Given the description of an element on the screen output the (x, y) to click on. 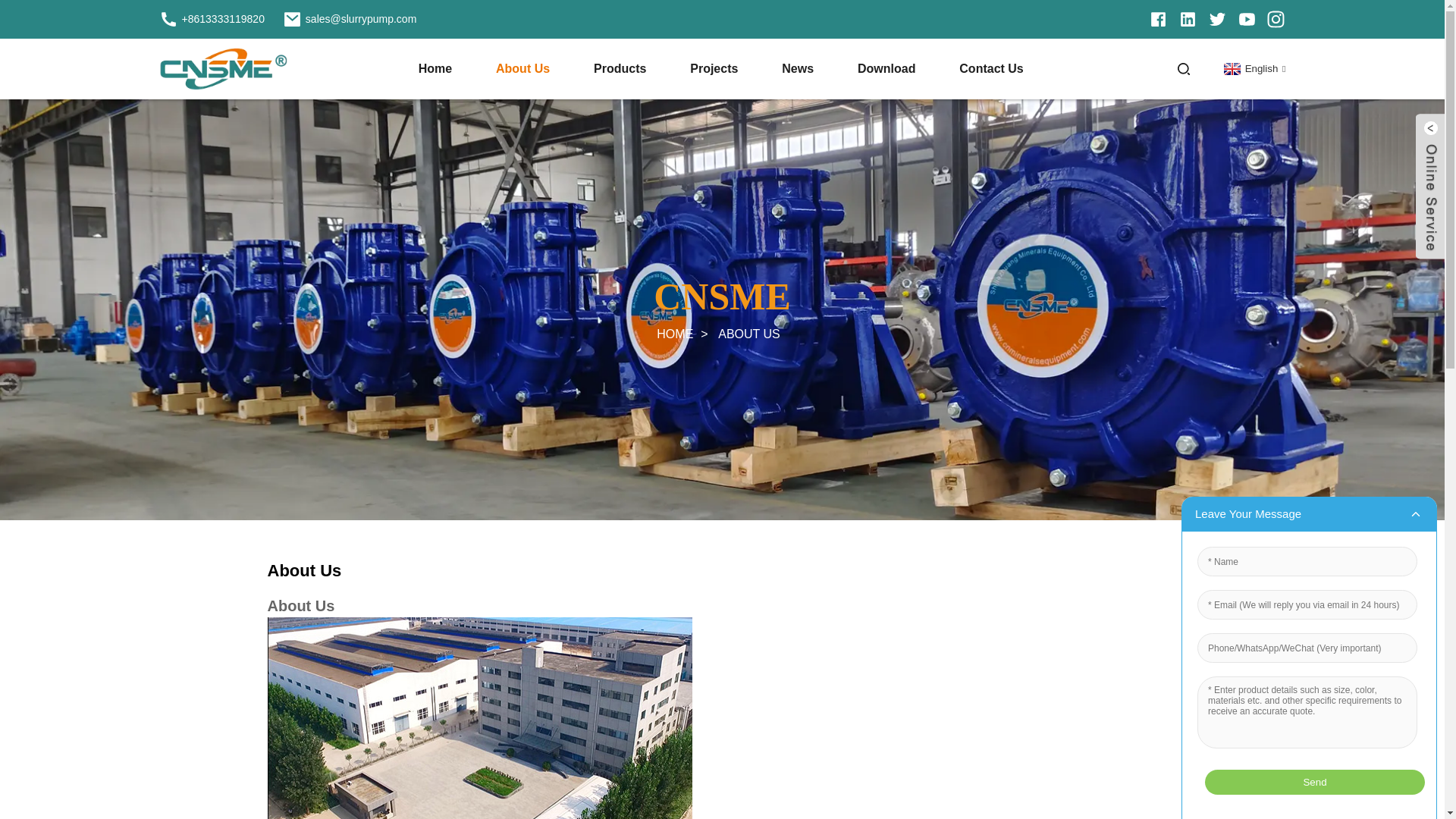
HOME (674, 333)
News (797, 69)
Contact Us (991, 69)
Home (435, 69)
ABOUT US (748, 333)
English (1252, 68)
Download (886, 69)
Products (620, 69)
About Us (523, 69)
Projects (714, 69)
